Given the description of an element on the screen output the (x, y) to click on. 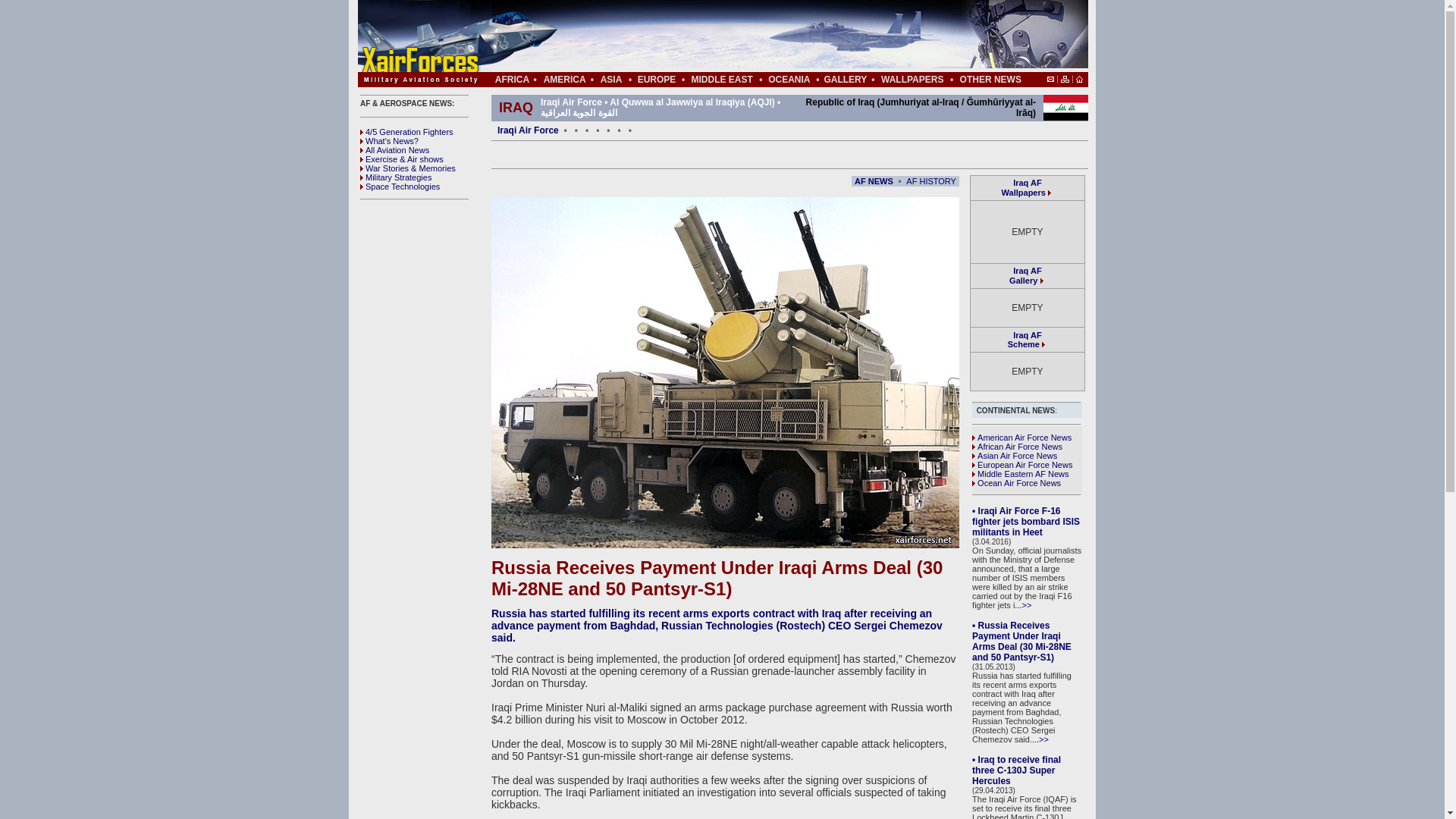
AFRICA (512, 79)
GALLERY (845, 79)
Advertisement (668, 180)
Military Strategies (394, 176)
Advertisement (767, 35)
 AMERICA (1025, 275)
Space Technologies (563, 79)
OTHER NEWS (1026, 339)
MIDDLE EAST (399, 185)
AF HISTORY (990, 79)
OCEANIA (721, 79)
Iraqi Air Force (930, 180)
WALLPAPERS (788, 79)
